Given the description of an element on the screen output the (x, y) to click on. 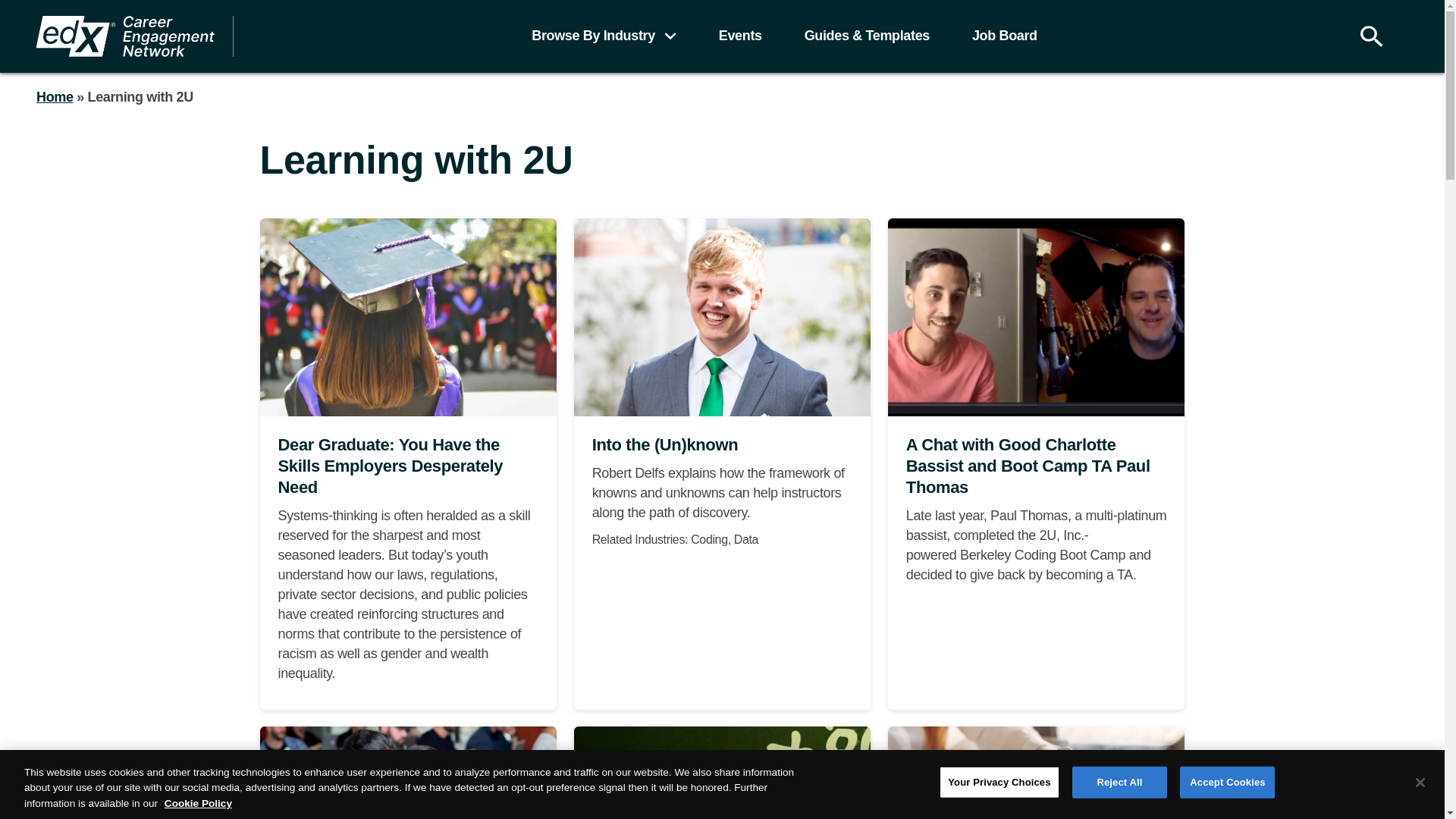
Browse By Industry (603, 35)
Events (740, 35)
Job Board (1005, 35)
